Given the description of an element on the screen output the (x, y) to click on. 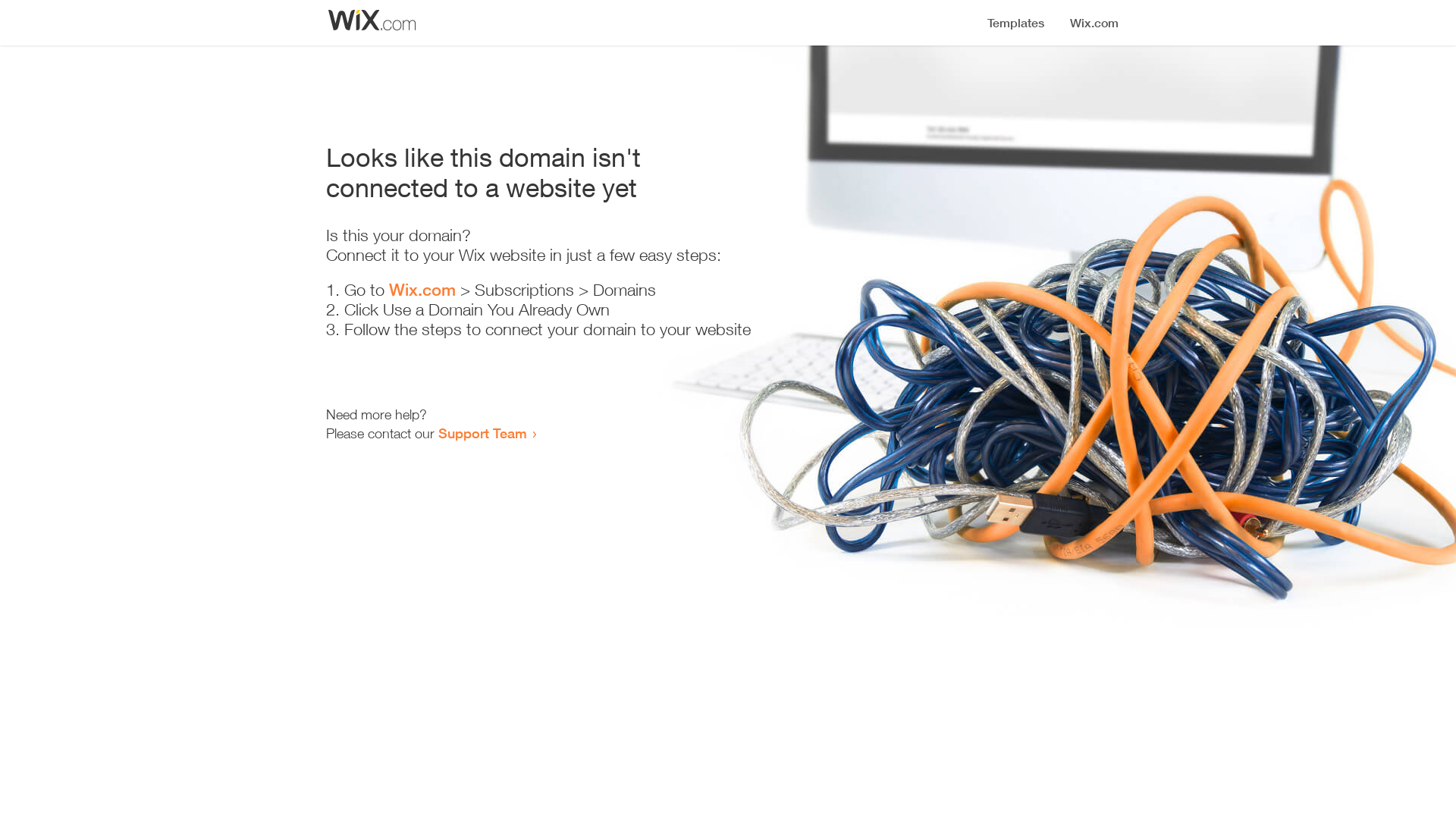
Wix.com Element type: text (422, 289)
Support Team Element type: text (482, 432)
